Given the description of an element on the screen output the (x, y) to click on. 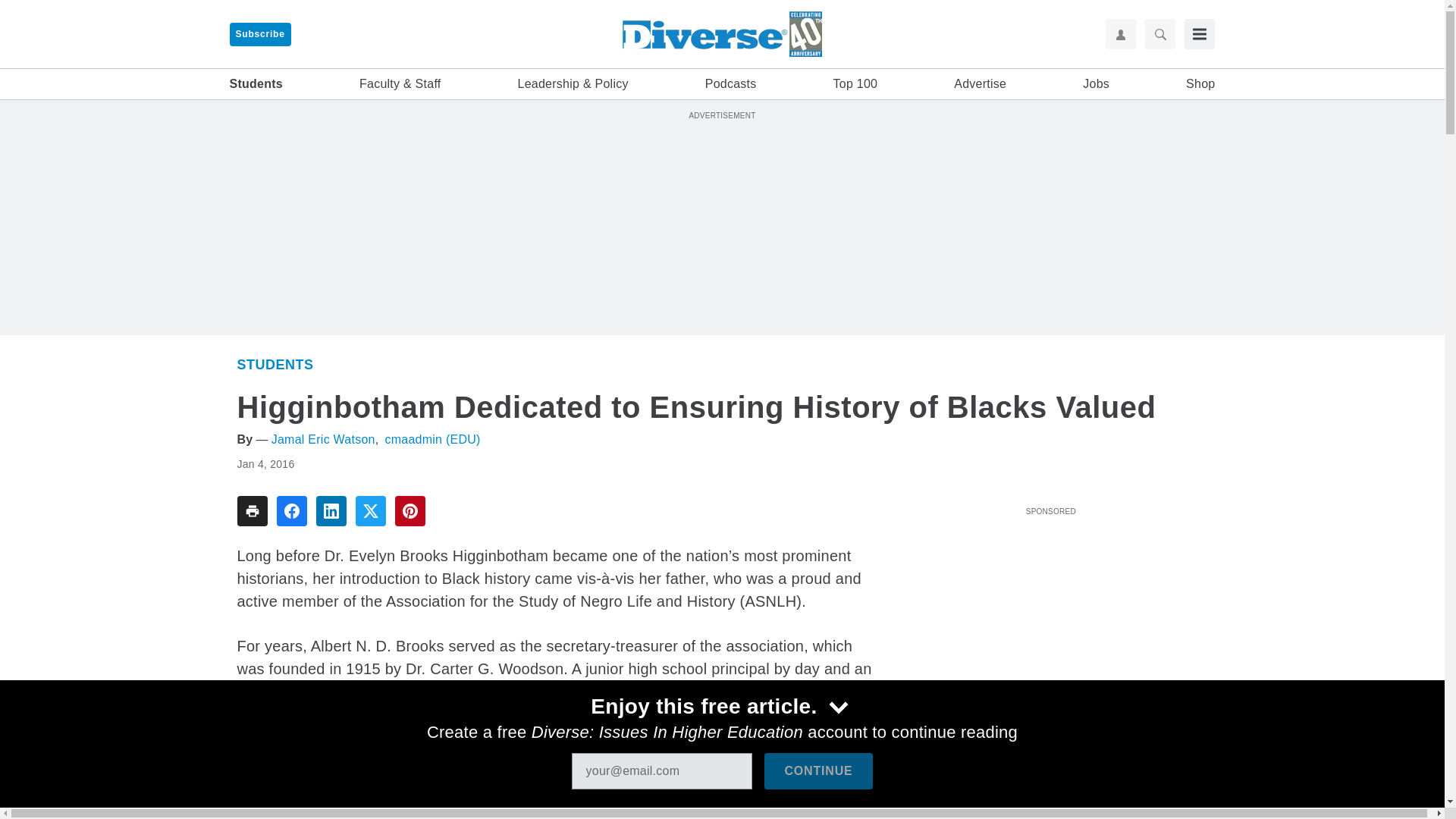
Share To twitter (370, 511)
Students (255, 84)
Share To pinterest (409, 511)
Share To facebook (290, 511)
Jobs (1096, 84)
Advertise (979, 84)
Subscribe (258, 33)
Students (274, 364)
Shop (1200, 84)
Subscribe (258, 33)
